Given the description of an element on the screen output the (x, y) to click on. 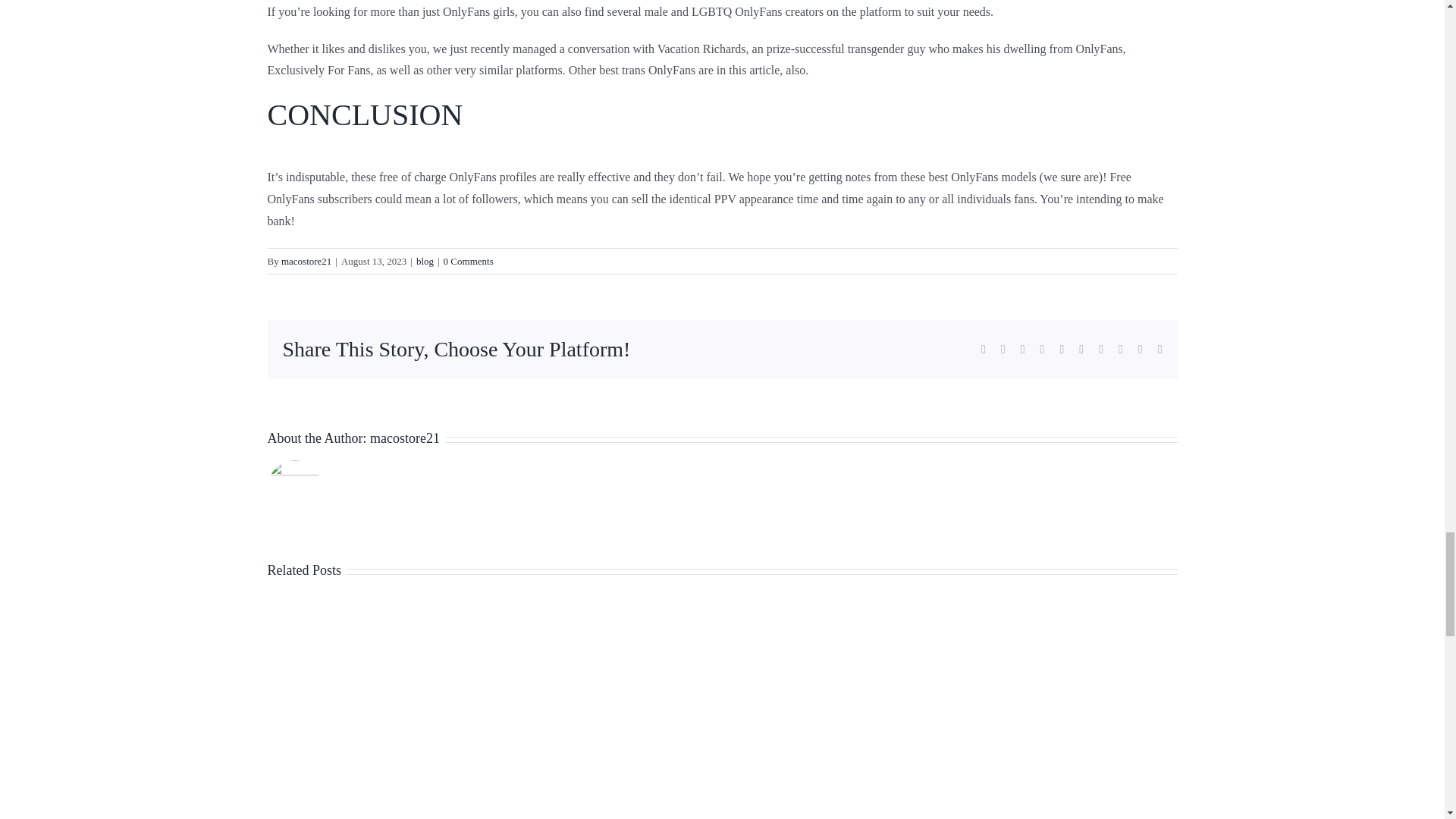
Posts by macostore21 (306, 260)
0 Comments (468, 260)
macostore21 (306, 260)
Posts by macostore21 (404, 437)
macostore21 (404, 437)
blog (424, 260)
